Given the description of an element on the screen output the (x, y) to click on. 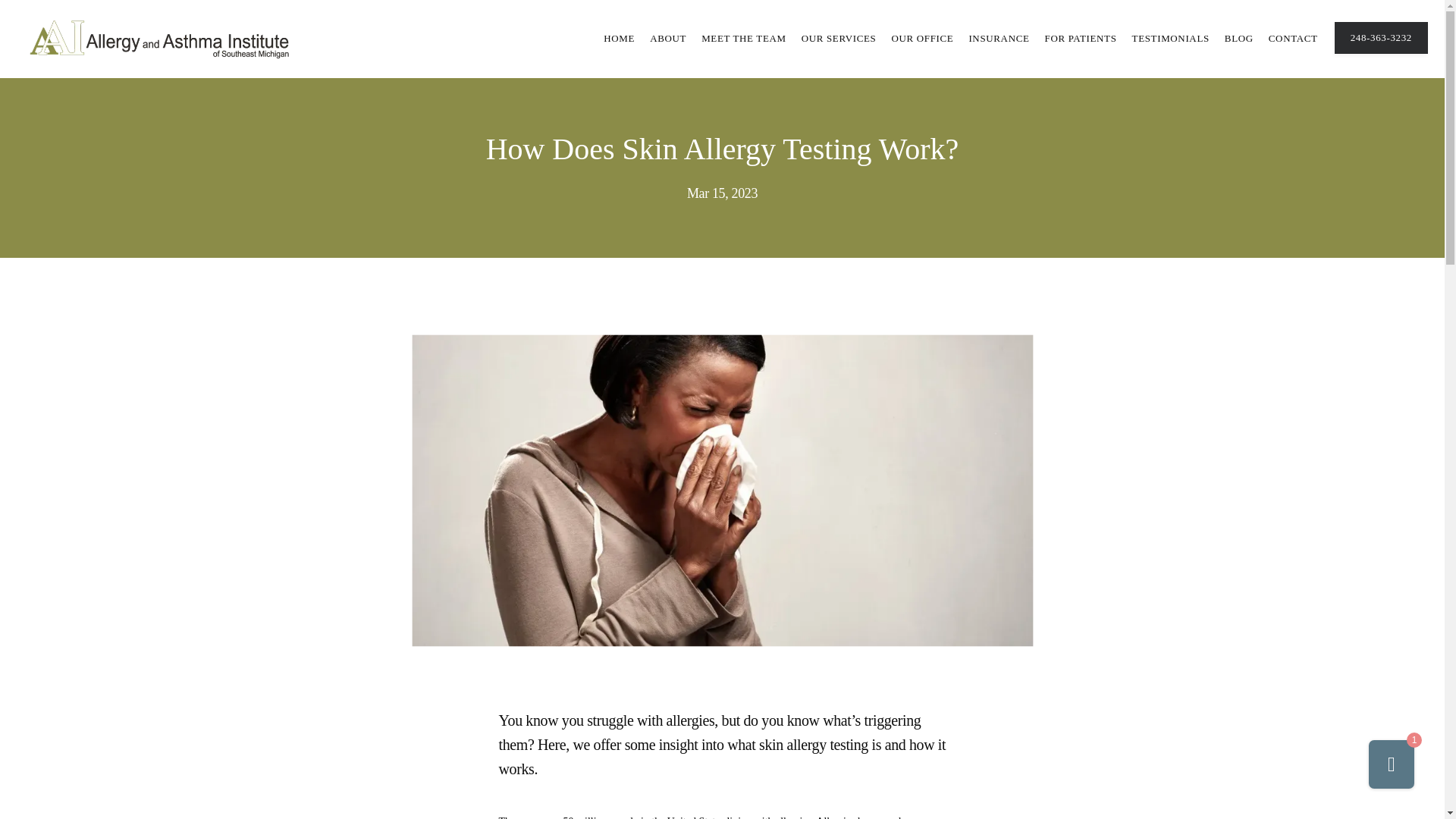
FOR PATIENTS (1080, 38)
248-363-3232 (1381, 51)
CONTACT (1292, 38)
MEET THE TEAM (743, 38)
TESTIMONIALS (1170, 38)
50 million (585, 817)
BLOG (1238, 38)
OUR OFFICE (922, 38)
OUR SERVICES (839, 38)
ABOUT (667, 38)
